Given the description of an element on the screen output the (x, y) to click on. 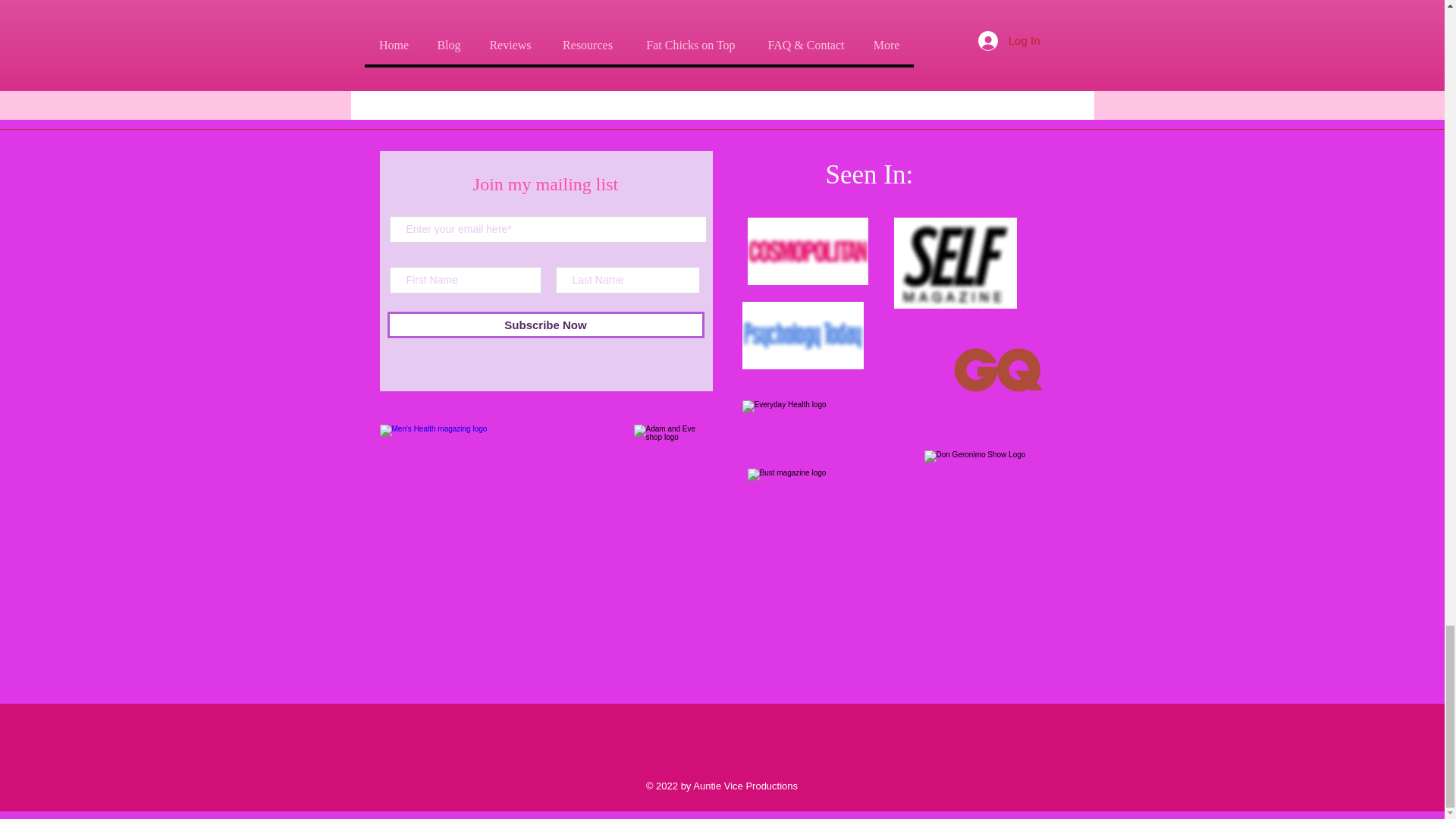
self-magazine-logo.jpg (954, 262)
